Given the description of an element on the screen output the (x, y) to click on. 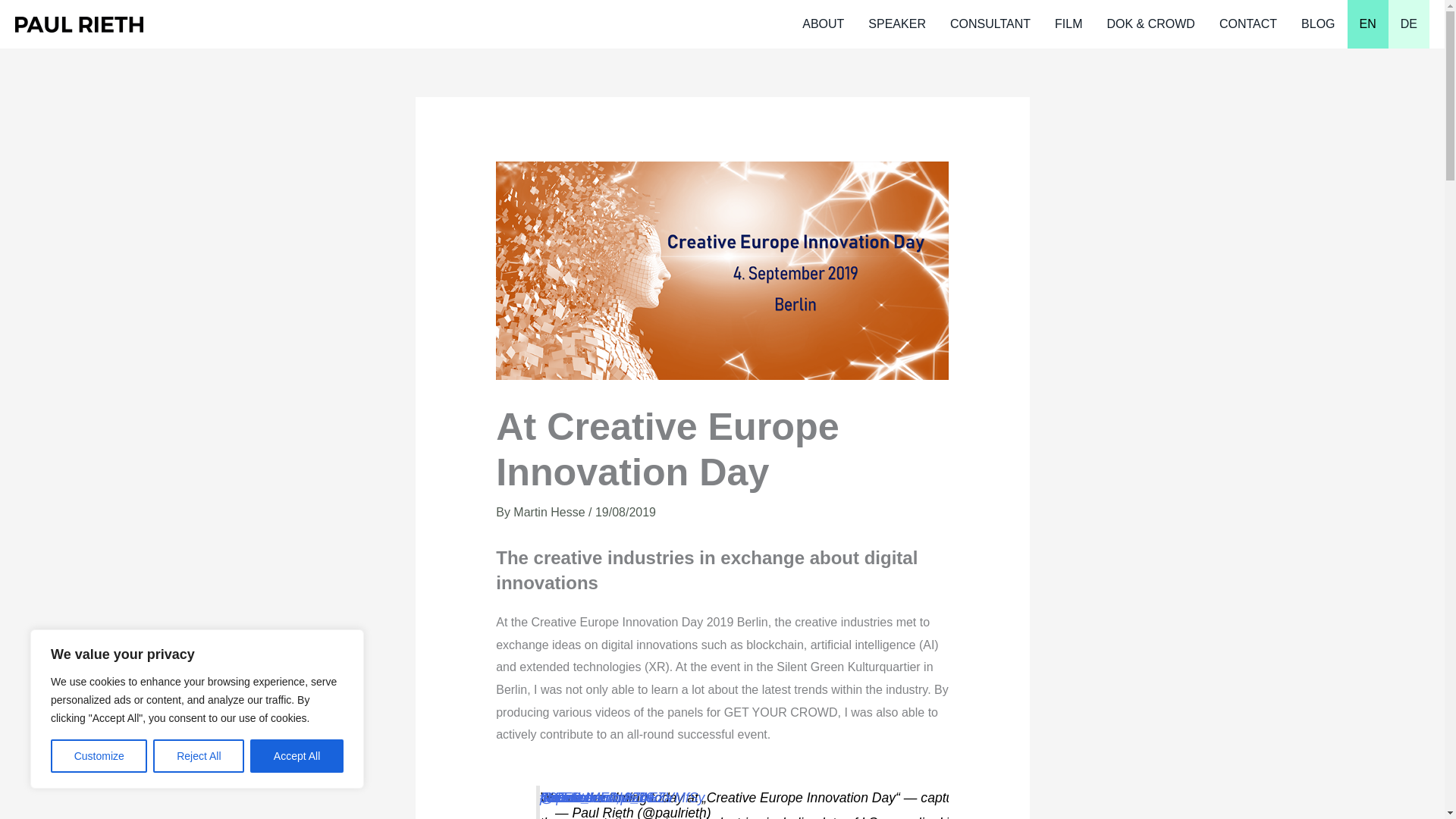
SPEAKER (896, 24)
BLOG (1317, 24)
ABOUT (823, 24)
CONSULTANT (989, 24)
CONTACT (1247, 24)
Customize (98, 756)
FILM (1068, 24)
Reject All (198, 756)
Accept All (296, 756)
View all posts by Martin Hesse (550, 512)
Martin Hesse (550, 512)
